Given the description of an element on the screen output the (x, y) to click on. 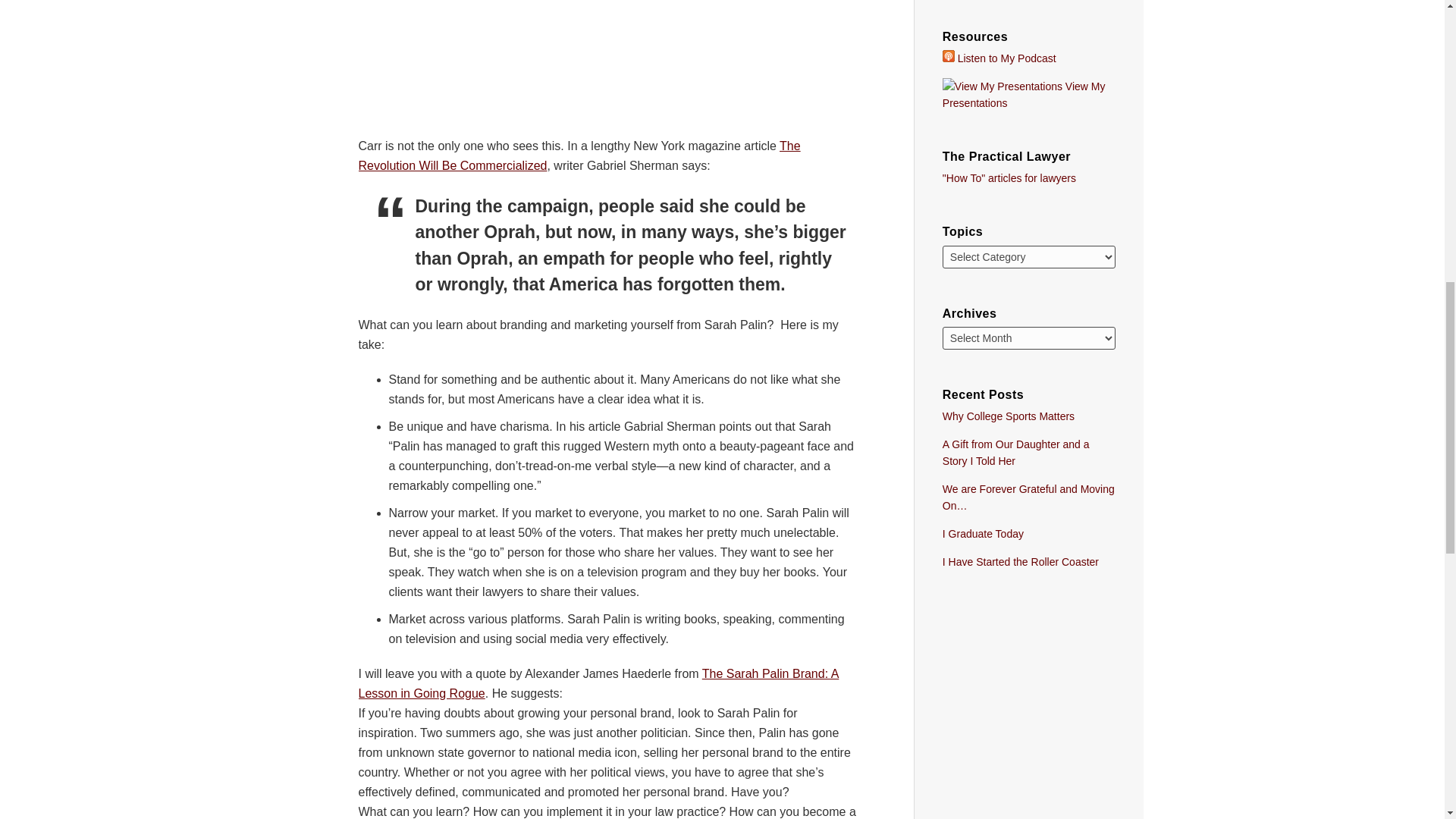
The Revolution Will Be Commercialized (578, 155)
The Sarah Palin Brand: A Lesson in Going Rogue (598, 683)
